Given the description of an element on the screen output the (x, y) to click on. 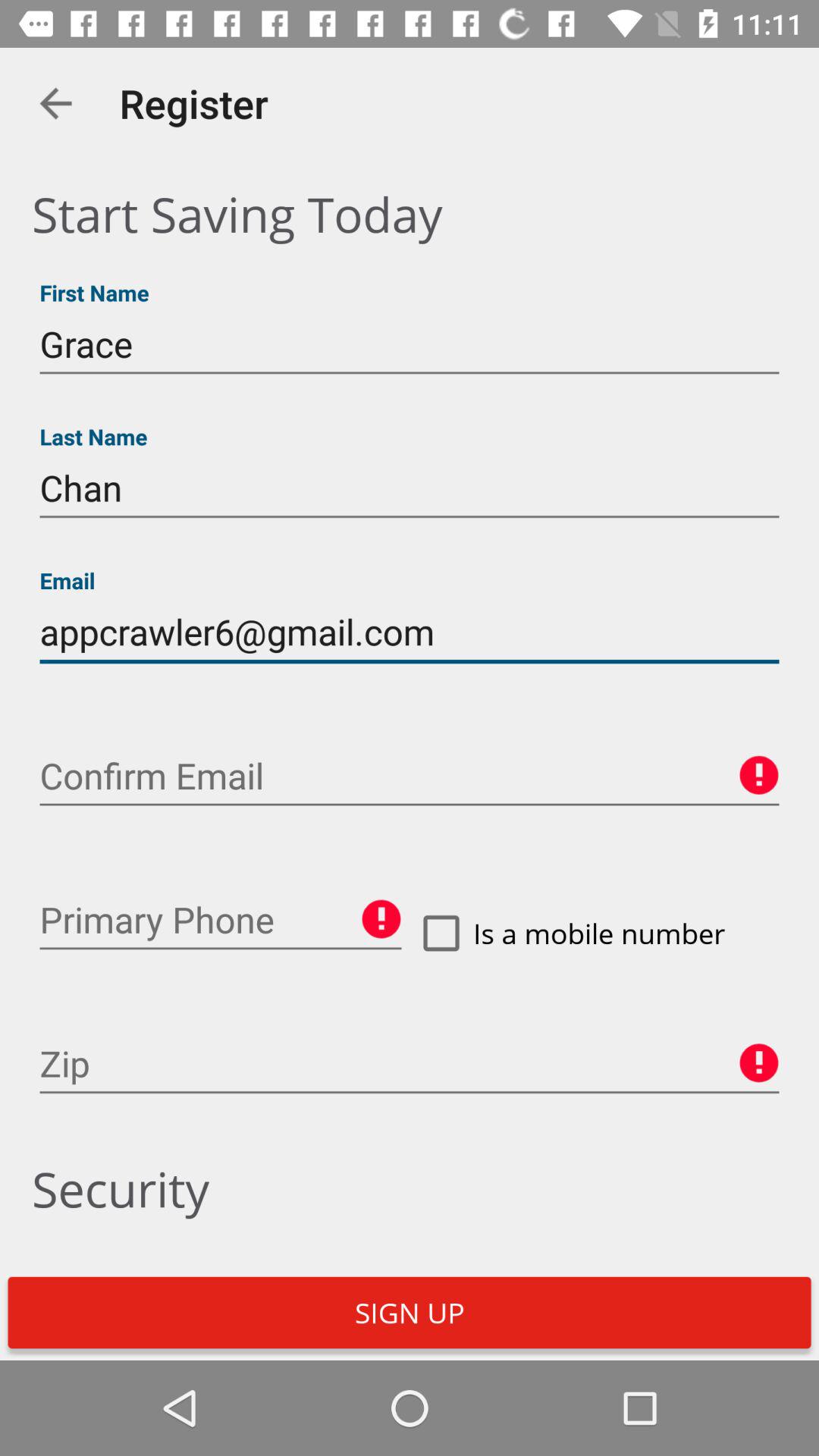
enter zipcode (409, 1064)
